Given the description of an element on the screen output the (x, y) to click on. 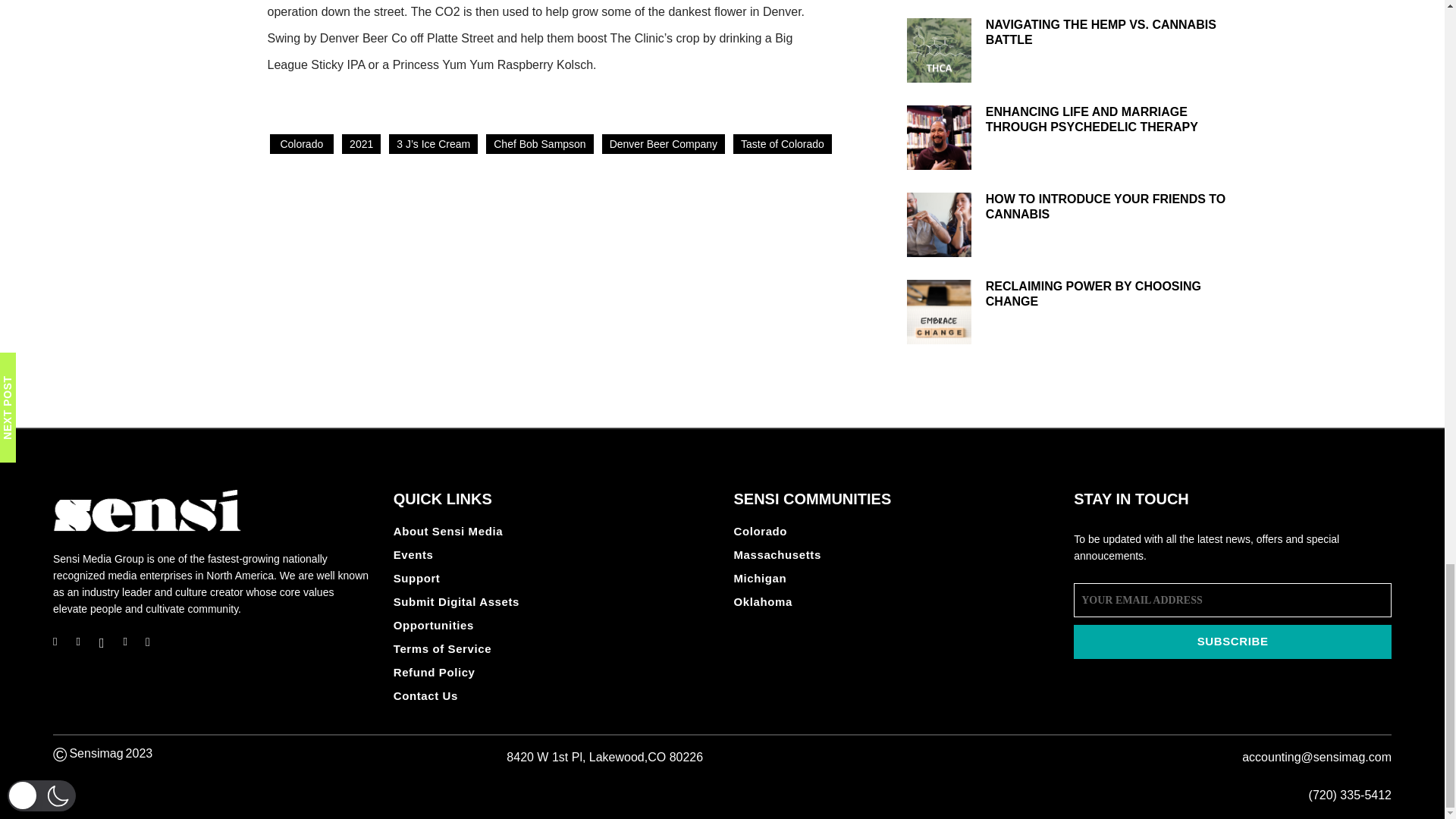
Subscribe (1232, 641)
